Given the description of an element on the screen output the (x, y) to click on. 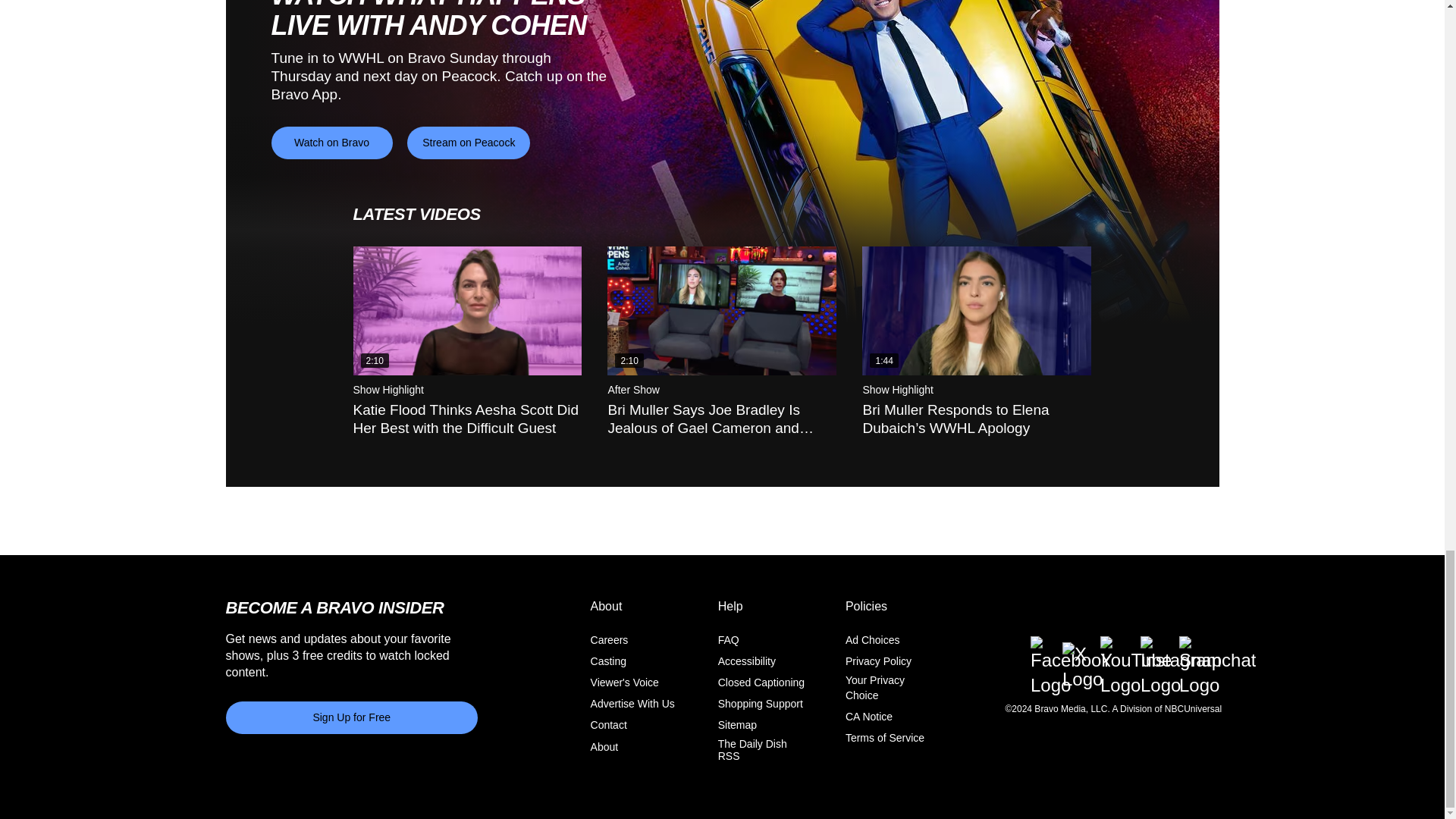
Advertise With Us (633, 703)
